Given the description of an element on the screen output the (x, y) to click on. 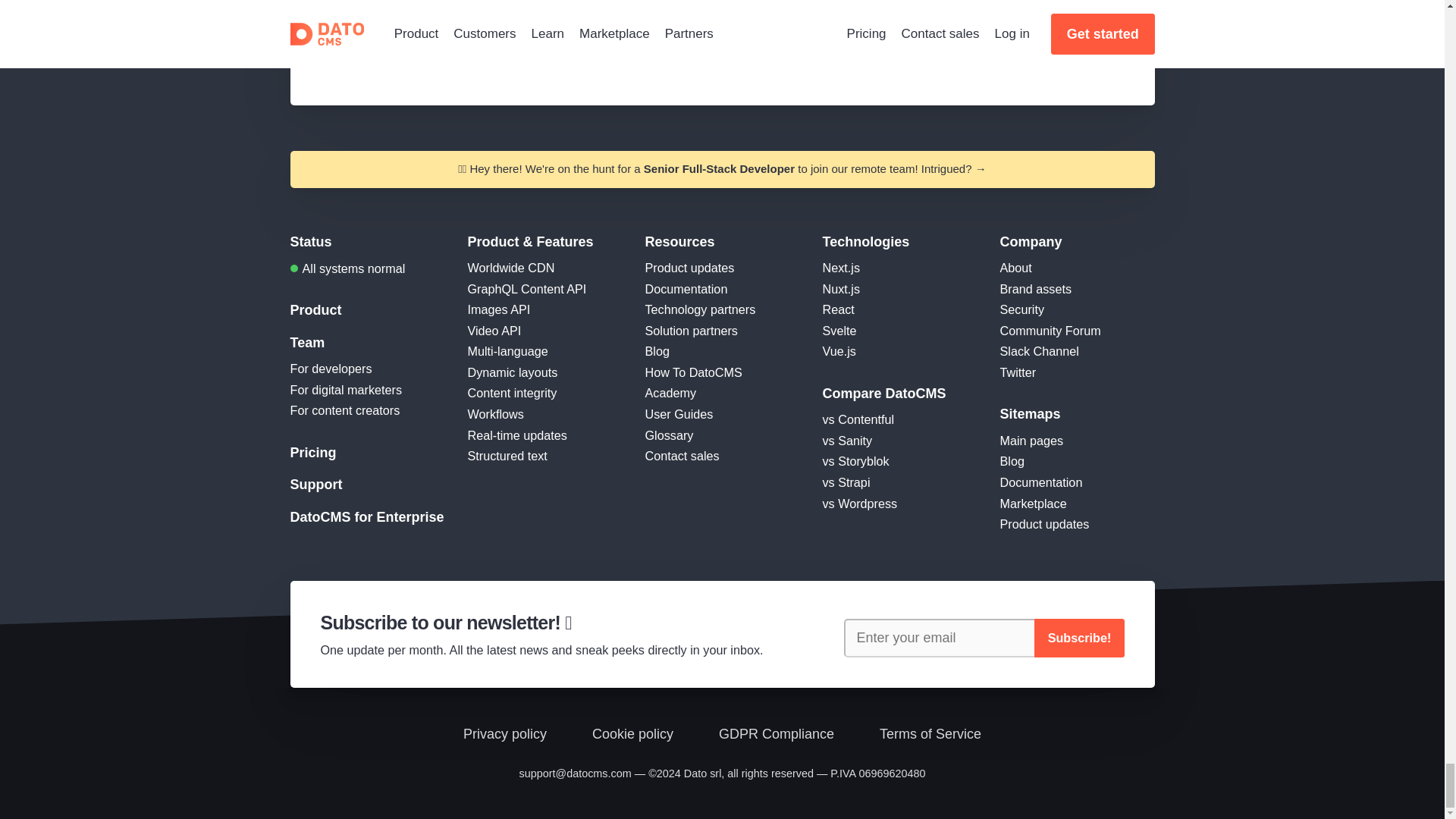
Fastest headless CMS (510, 267)
Headless CMS multi language (507, 350)
Workflow CMS (494, 413)
Headless CMS Graphql (526, 288)
Dynamic layouts CMS (512, 372)
Images API (498, 309)
Content integrity CMS (511, 392)
Video API (494, 330)
